Given the description of an element on the screen output the (x, y) to click on. 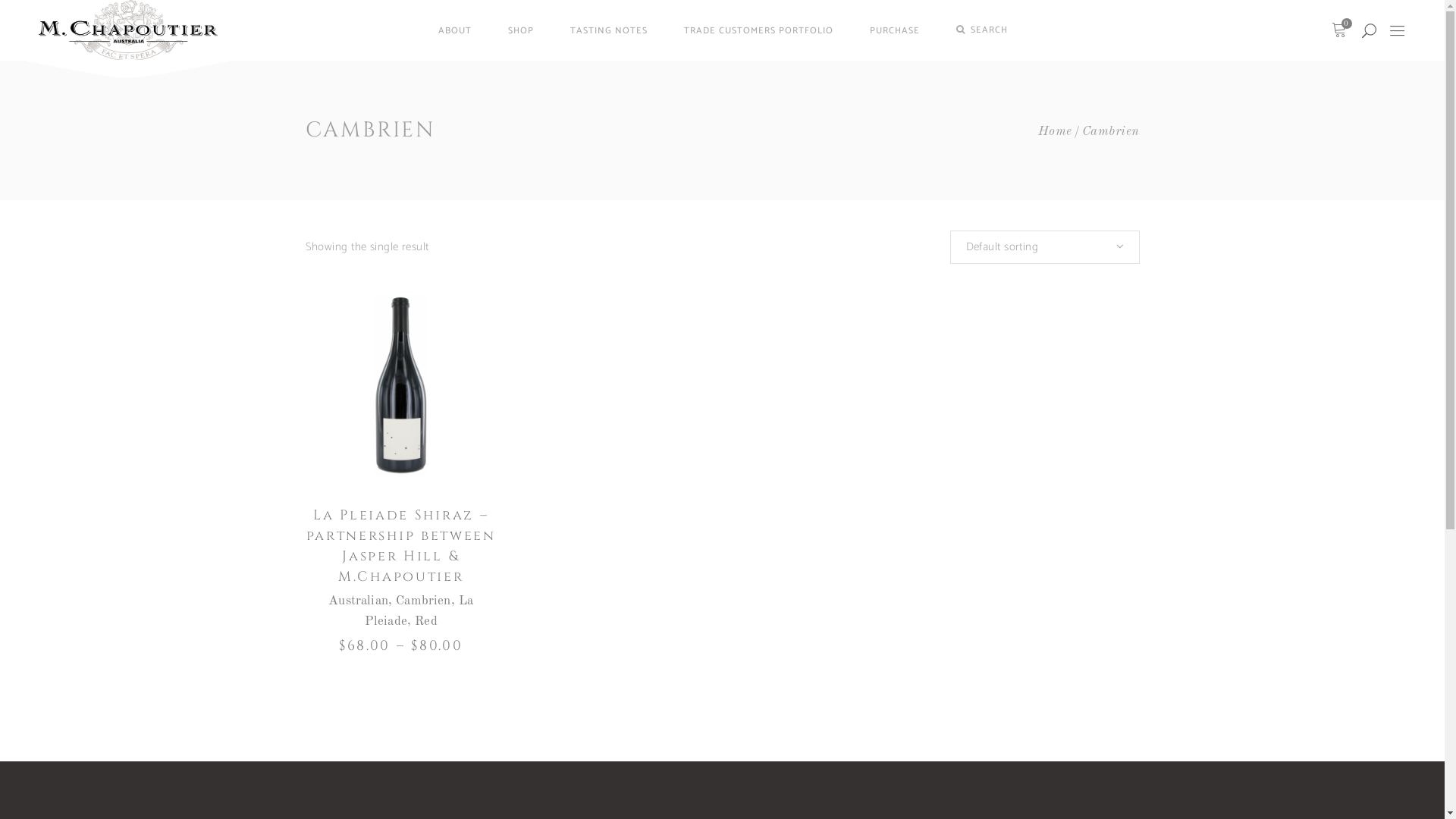
Red Element type: text (425, 621)
La Pleiade Element type: text (418, 610)
TASTING NOTES Element type: text (608, 29)
Cambrien Element type: text (422, 600)
0 Element type: text (1339, 29)
Australian Element type: text (358, 600)
SHOP Element type: text (520, 29)
ABOUT Element type: text (454, 29)
Home Element type: text (1055, 131)
SEARCH Element type: text (982, 29)
TRADE CUSTOMERS PORTFOLIO Element type: text (758, 29)
PURCHASE Element type: text (894, 29)
